Given the description of an element on the screen output the (x, y) to click on. 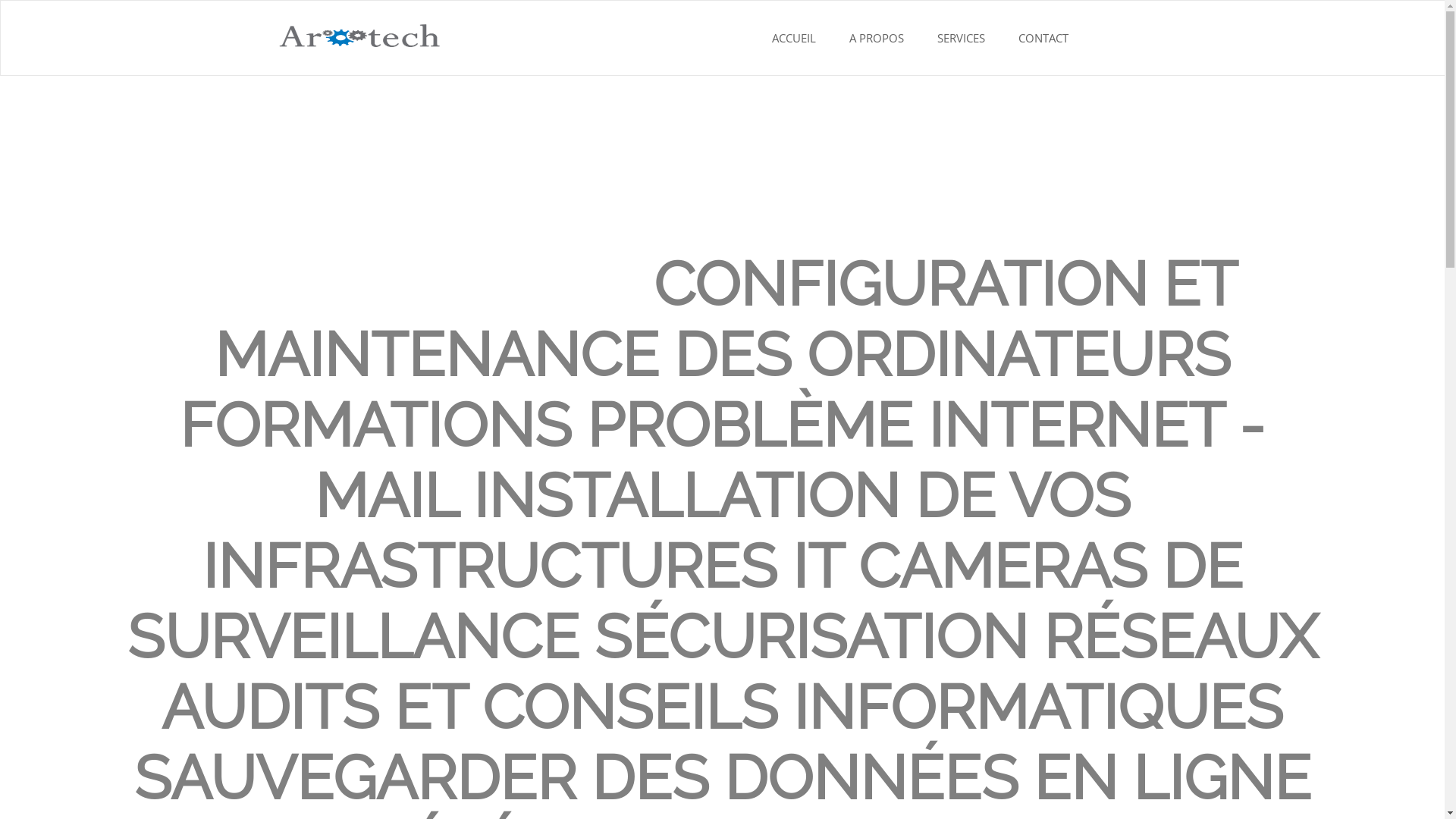
ACCUEIL Element type: text (793, 37)
CONTACT Element type: text (1043, 37)
SERVICES Element type: text (961, 37)
A PROPOS Element type: text (876, 37)
